Given the description of an element on the screen output the (x, y) to click on. 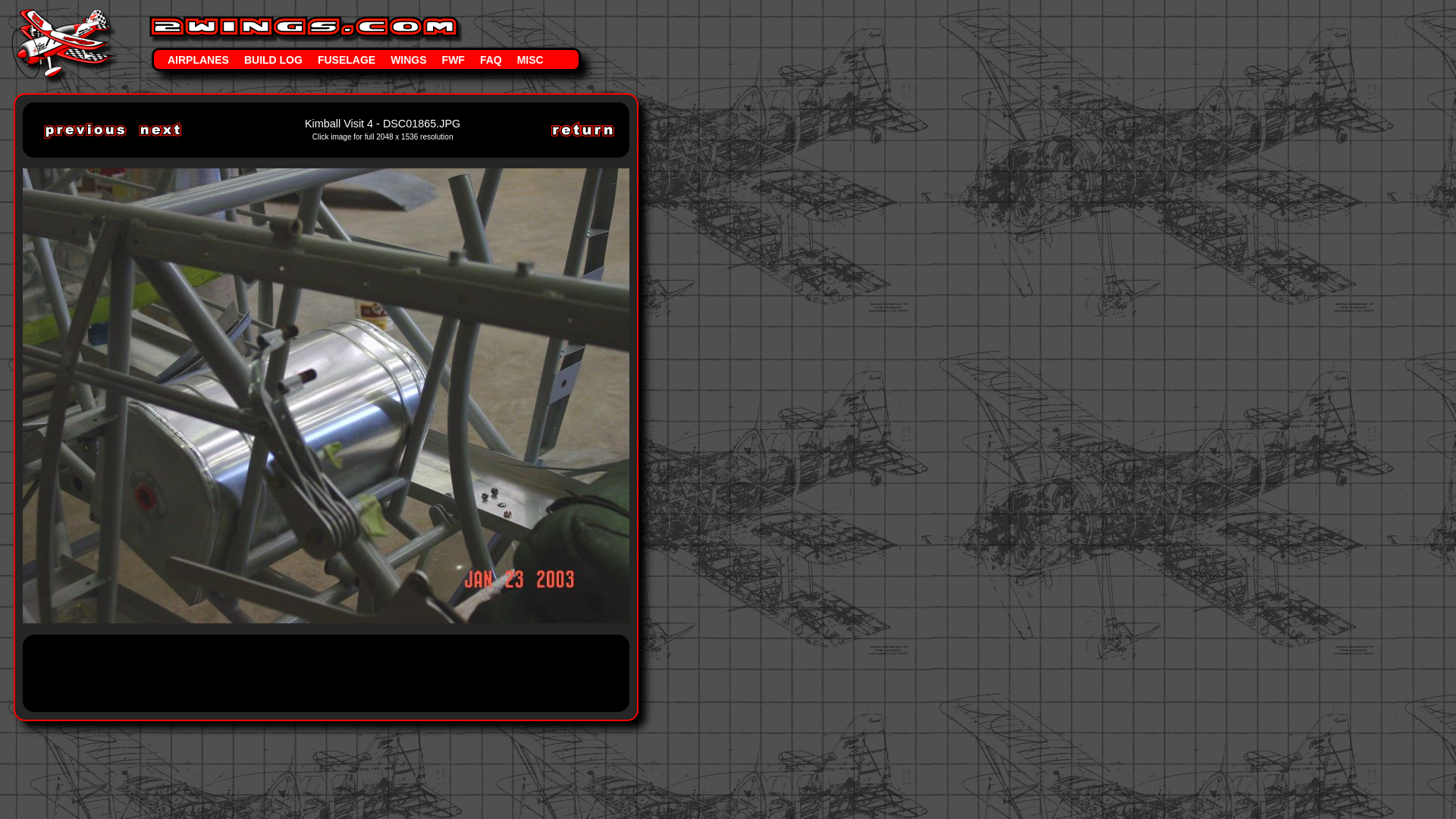
FUSELAGE Element type: text (346, 58)
FAQ Element type: text (490, 58)
2wings.com HOME page Element type: hover (64, 13)
2wings.com HOME page Element type: hover (304, 40)
FWF Element type: text (453, 58)
Advertisement Element type: hover (313, 671)
WINGS Element type: text (407, 58)
BUILD LOG Element type: text (273, 58)
MISC Element type: text (530, 58)
AIRPLANES Element type: text (198, 58)
